Given the description of an element on the screen output the (x, y) to click on. 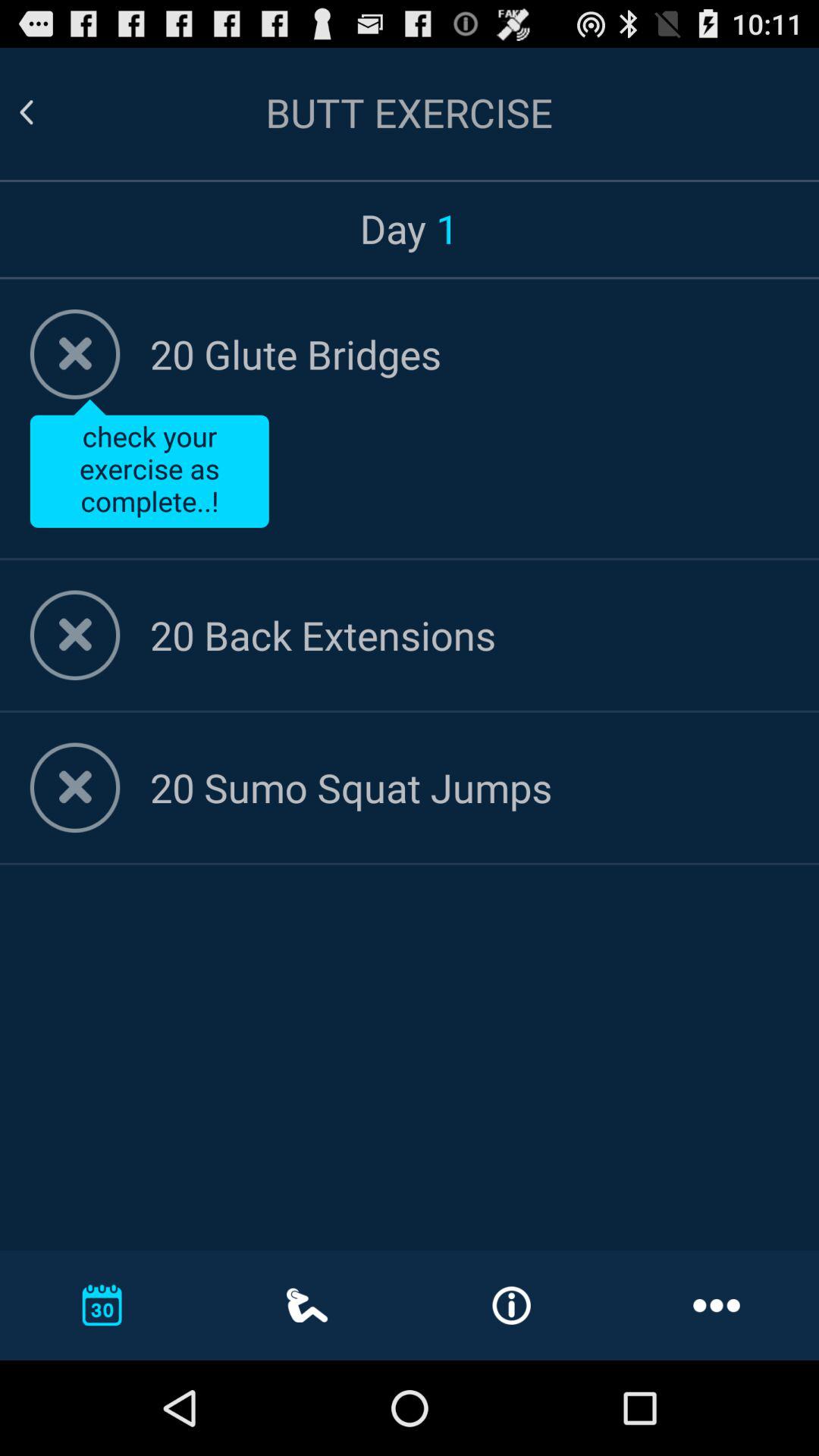
remove the option (75, 635)
